Given the description of an element on the screen output the (x, y) to click on. 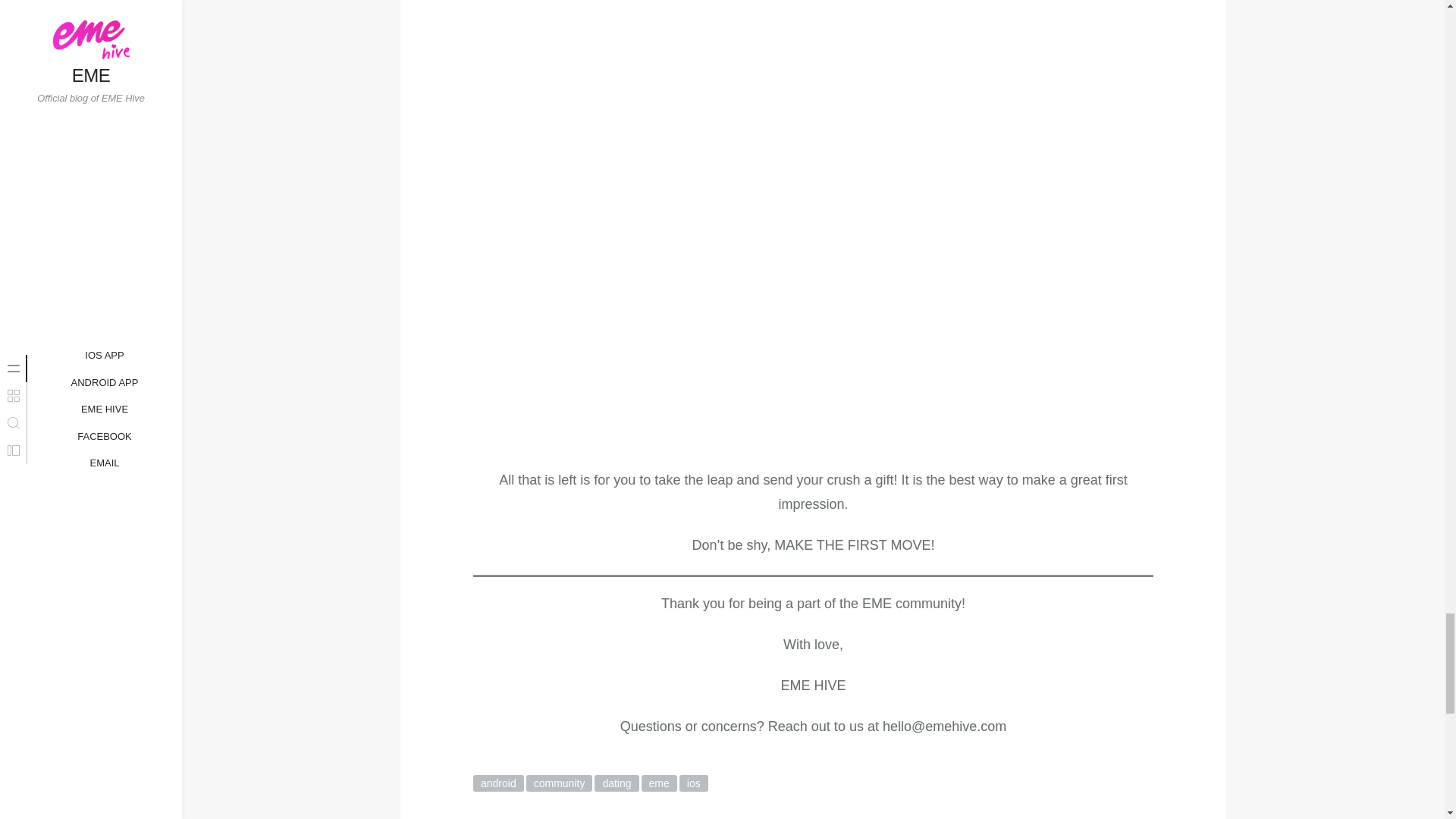
community (558, 782)
android (498, 782)
eme (659, 782)
ios (693, 782)
dating (616, 782)
